Given the description of an element on the screen output the (x, y) to click on. 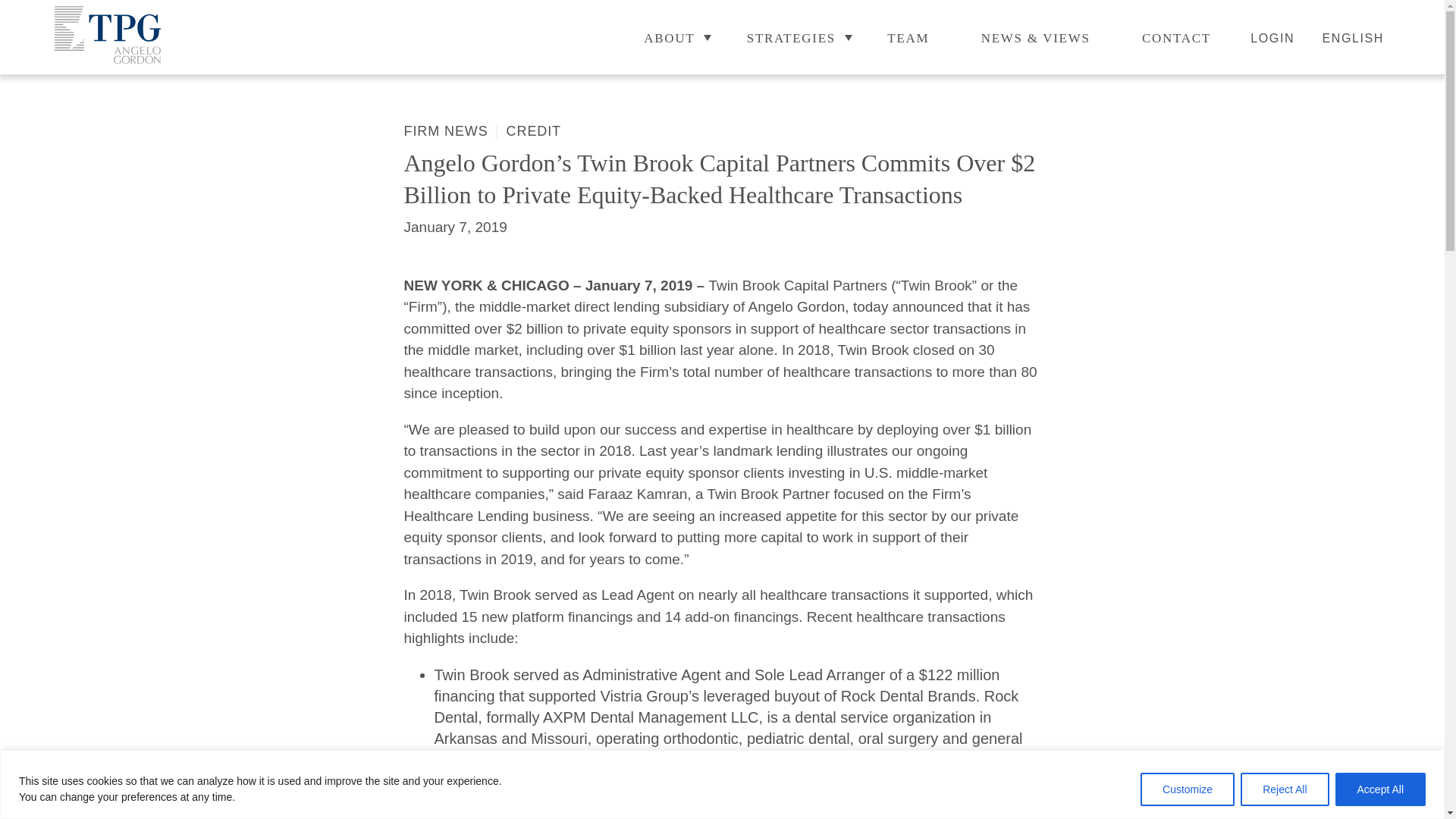
ENGLISH (1353, 37)
English (1353, 37)
LOGIN (1272, 37)
STRATEGIES (791, 37)
Reject All (1283, 788)
ABOUT (669, 37)
Accept All (1380, 788)
Customize (1187, 788)
TEAM (908, 37)
CONTACT (1176, 37)
